Given the description of an element on the screen output the (x, y) to click on. 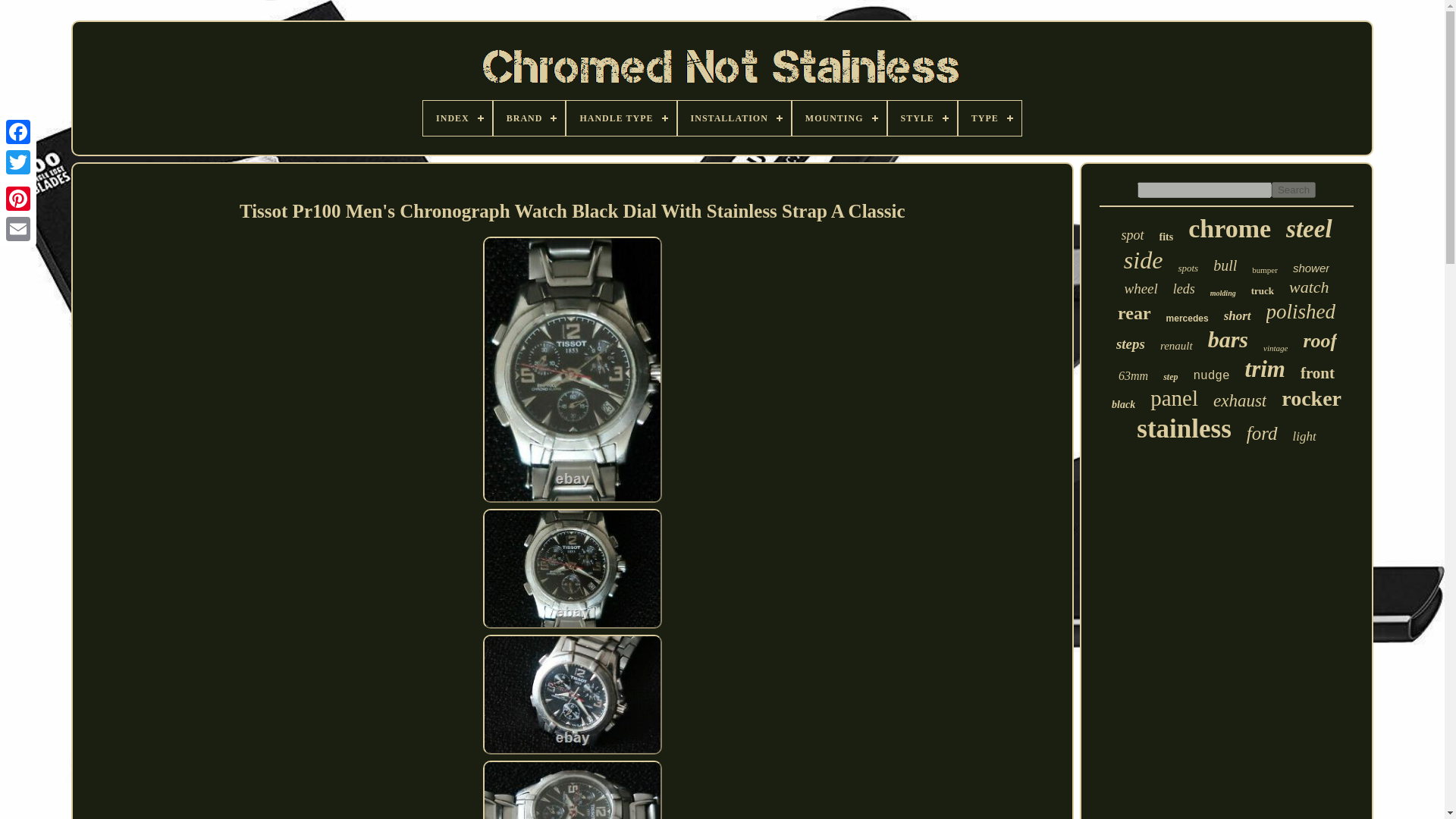
HANDLE TYPE (620, 117)
BRAND (529, 117)
Search (1293, 189)
INDEX (457, 117)
